Given the description of an element on the screen output the (x, y) to click on. 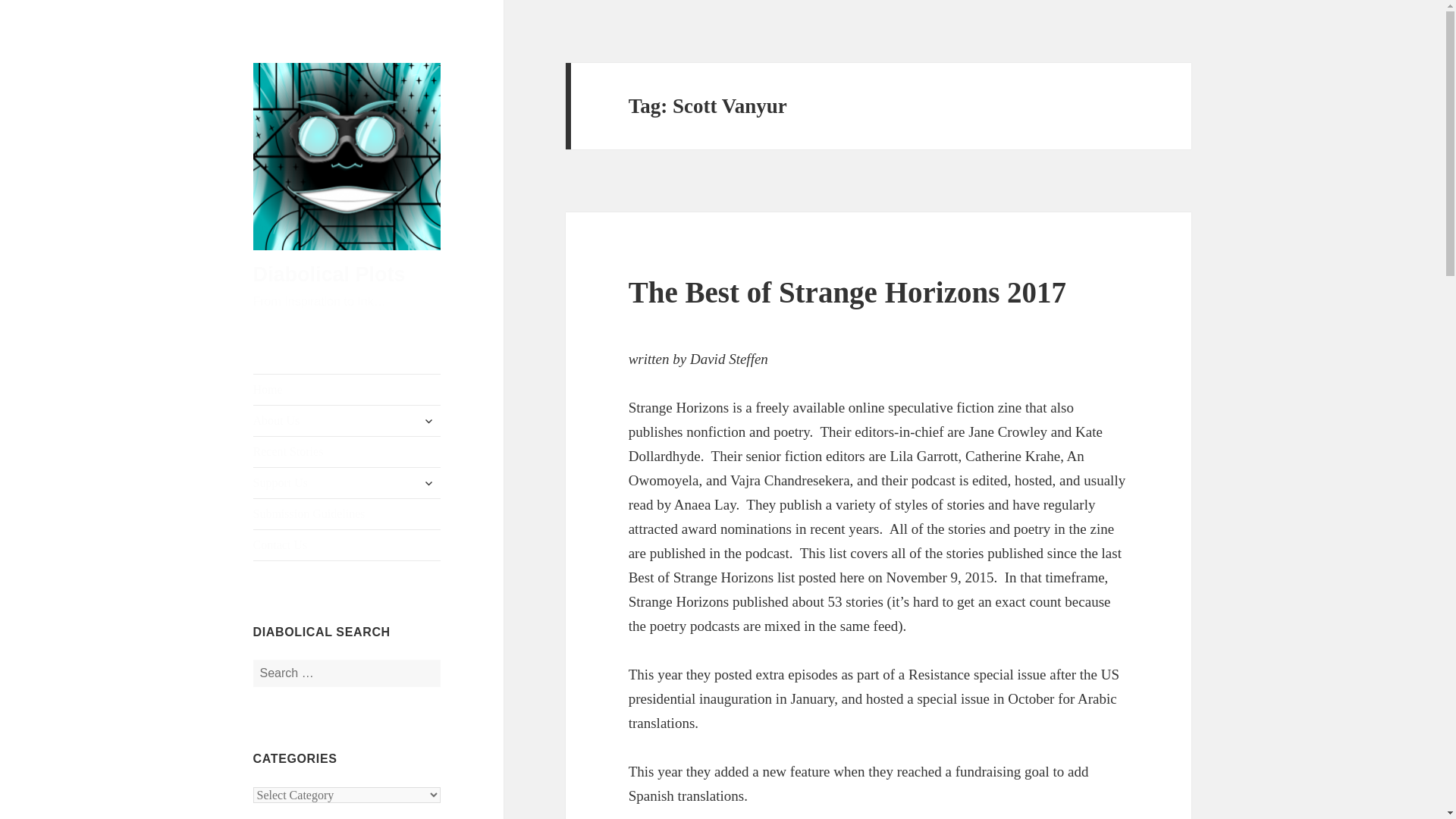
About Us (347, 420)
expand child menu (428, 420)
Contact Us (347, 544)
The Best of Strange Horizons 2017 (846, 292)
expand child menu (428, 482)
Recent Stories (347, 451)
Home (347, 389)
Diabolical Plots (329, 273)
Submission Guidelines (347, 513)
Support Us (347, 482)
